Given the description of an element on the screen output the (x, y) to click on. 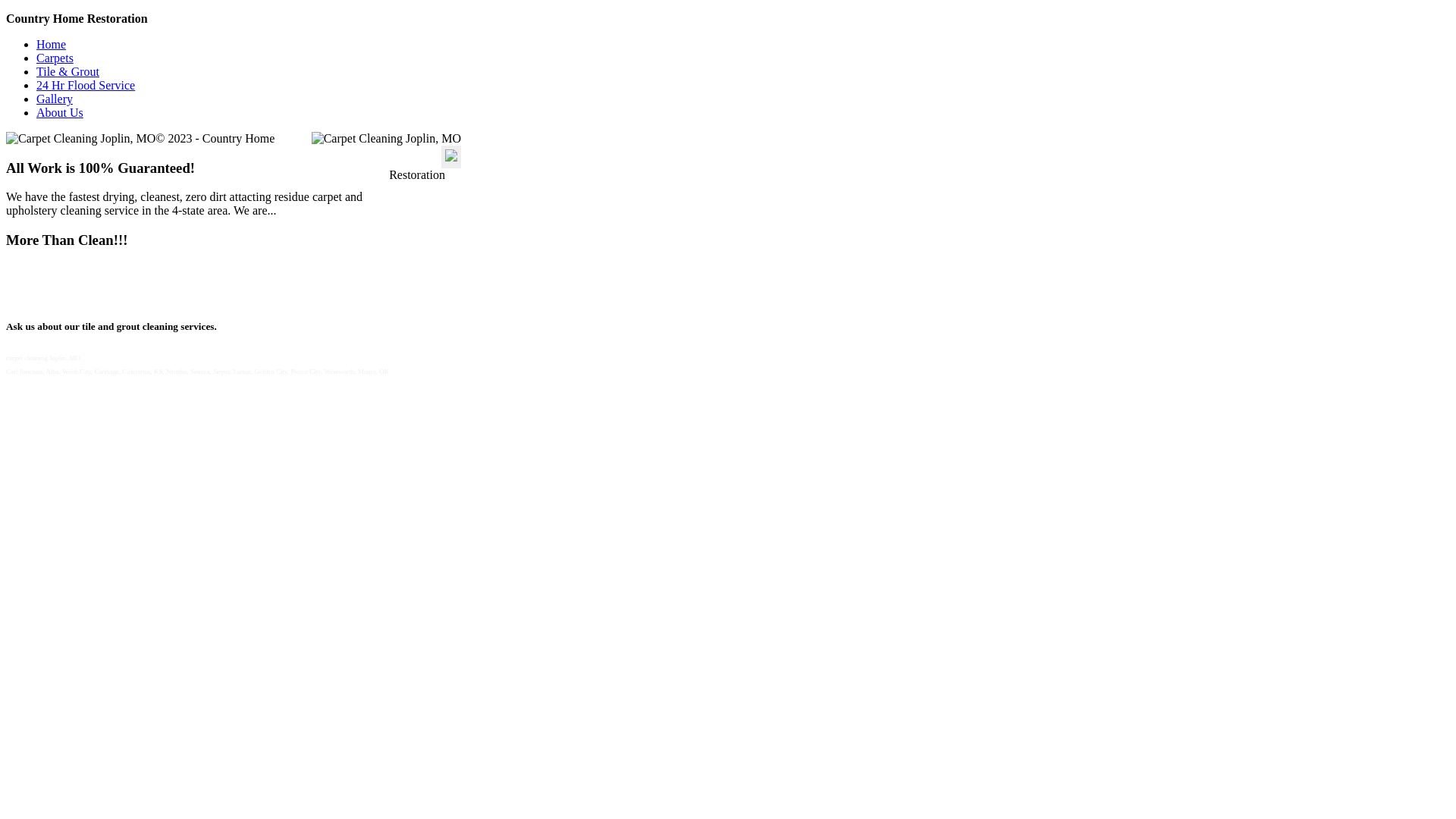
About Us Element type: text (59, 112)
24 Hr Flood Service Element type: text (85, 84)
Tile & Grout Element type: text (67, 71)
Home Element type: text (50, 43)
Carpets Element type: text (54, 57)
Gallery Element type: text (54, 98)
